Given the description of an element on the screen output the (x, y) to click on. 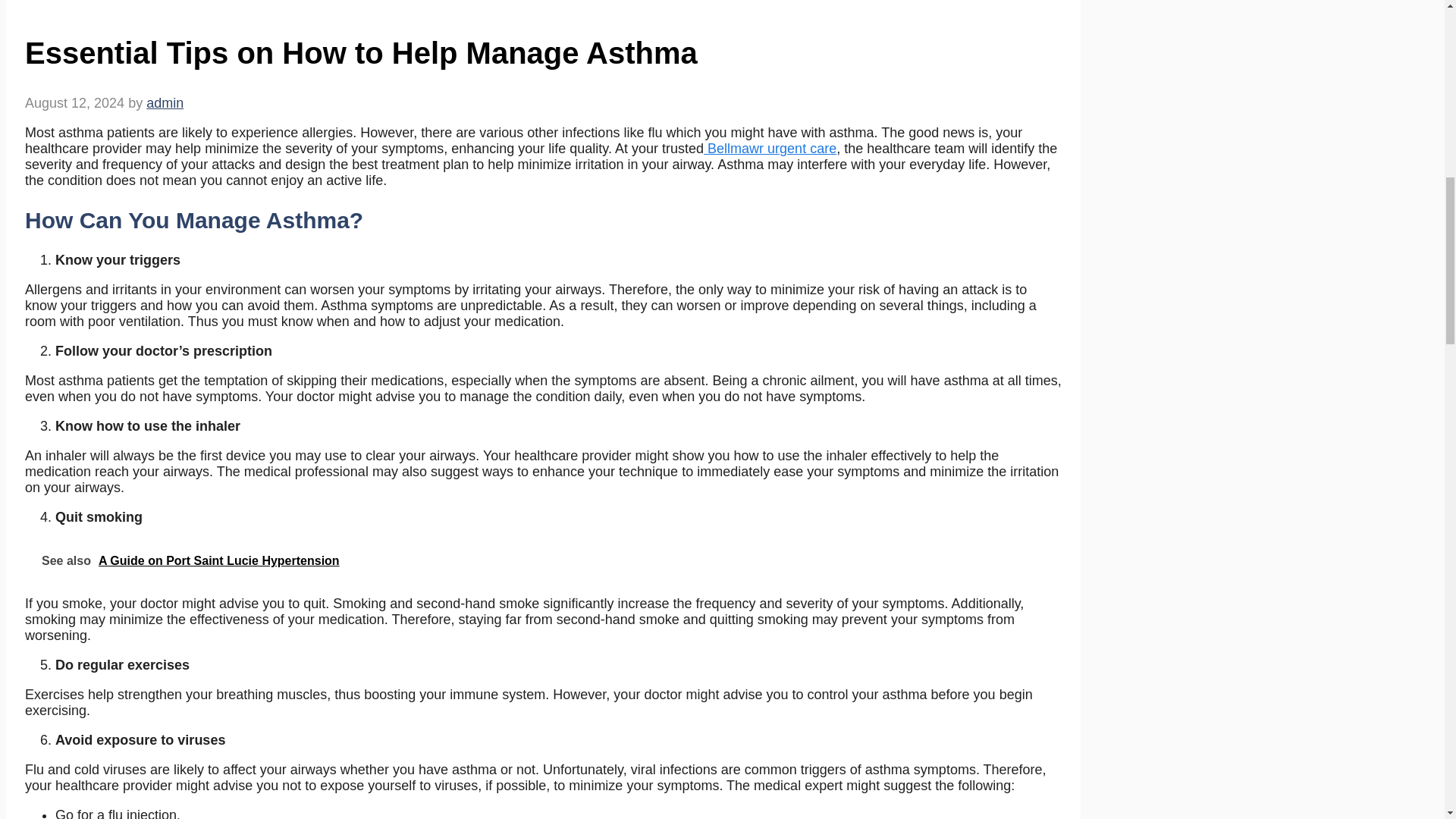
View all posts by admin (165, 102)
See also  A Guide on Port Saint Lucie Hypertension (544, 560)
Bellmawr urgent care (769, 148)
admin (165, 102)
Scroll back to top (1406, 720)
